Given the description of an element on the screen output the (x, y) to click on. 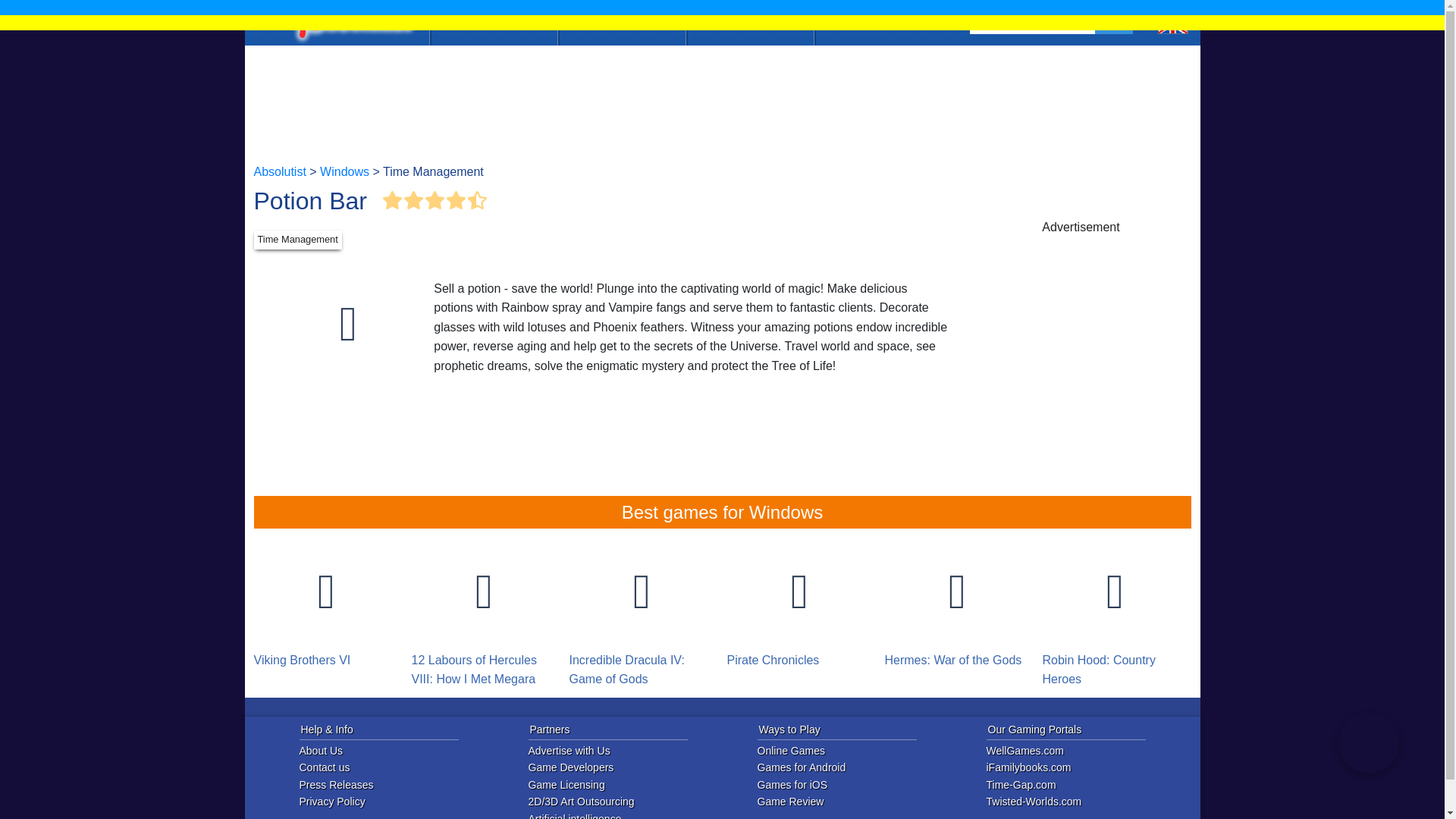
Absolutist (279, 171)
Hermes: War of the Gods (956, 603)
Windows (344, 171)
Absolutist (350, 22)
Incredible Dracula IV: Game of Gods (641, 613)
Pirate Chronicles (799, 603)
12 Labours of Hercules VIII: How I Met Megara (483, 613)
iOS (621, 20)
Viking Brothers VI (325, 603)
Online (493, 20)
Android (749, 20)
